Given the description of an element on the screen output the (x, y) to click on. 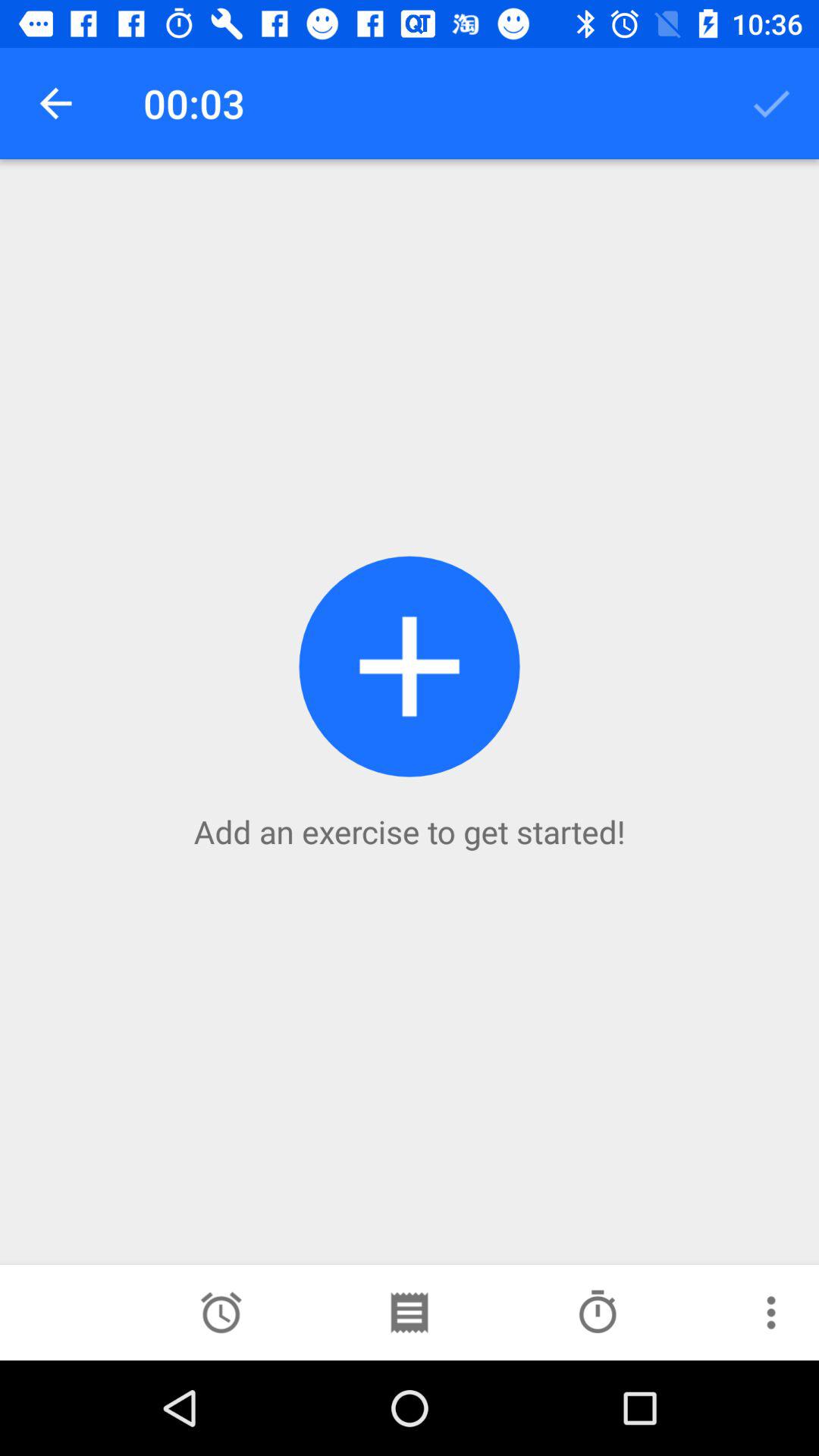
search in schedule option (409, 1312)
